Given the description of an element on the screen output the (x, y) to click on. 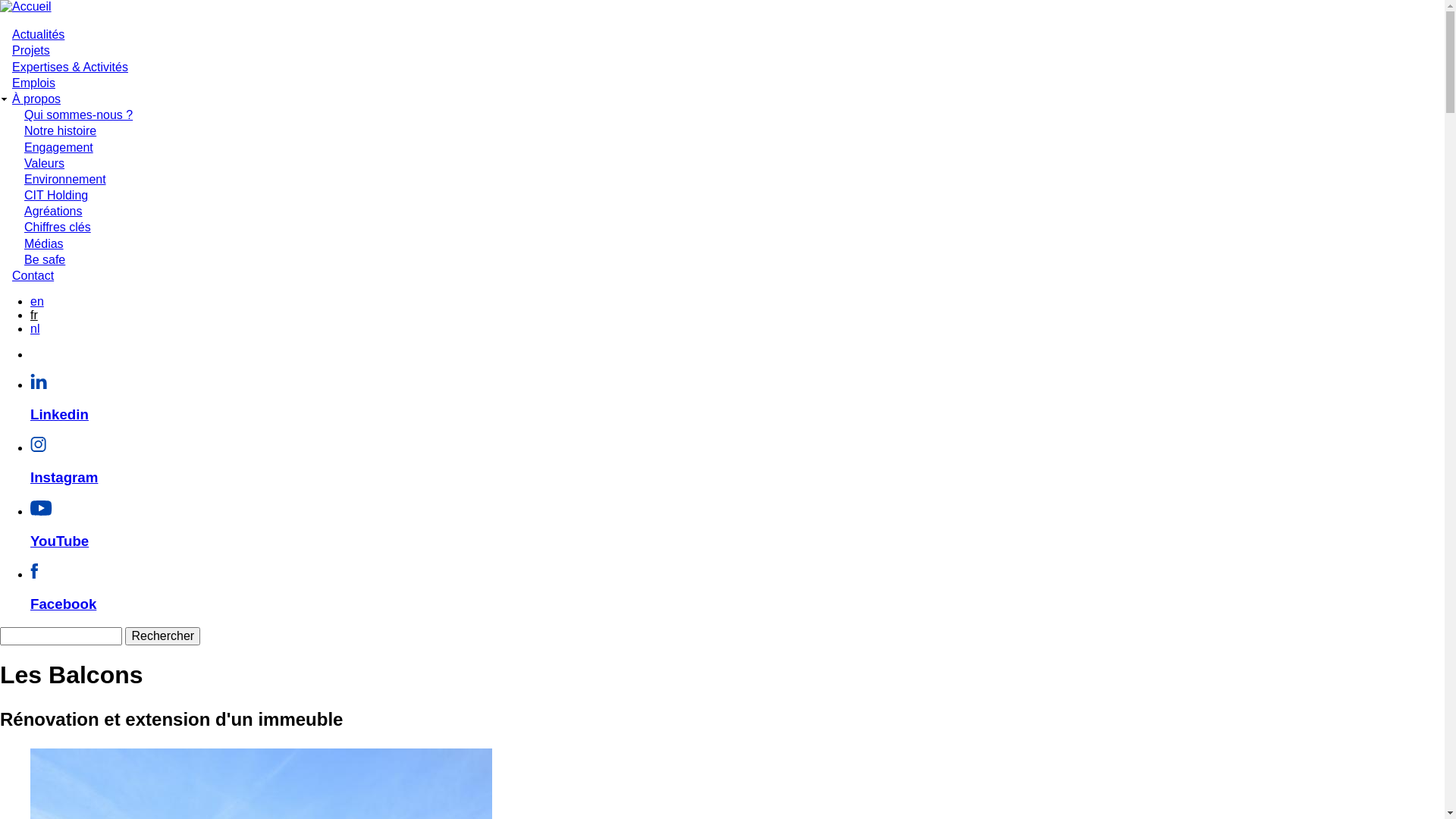
Rechercher Element type: text (162, 636)
Environnement Element type: text (65, 178)
nl Element type: text (34, 328)
YouTube Element type: text (737, 527)
Contact Element type: text (32, 275)
Linkedin Element type: text (737, 400)
CIT Holding Element type: text (55, 194)
Valeurs Element type: text (44, 162)
Engagement Element type: text (58, 147)
en Element type: text (36, 300)
Projets Element type: text (31, 49)
Aller au contenu principal Element type: text (0, 0)
Instagram Element type: text (737, 463)
Facebook Element type: text (737, 589)
Qui sommes-nous ? Element type: text (78, 114)
Accueil Element type: hover (25, 6)
Emplois Element type: text (33, 82)
fr Element type: text (33, 314)
Be safe Element type: text (44, 259)
Notre histoire Element type: text (60, 130)
